Given the description of an element on the screen output the (x, y) to click on. 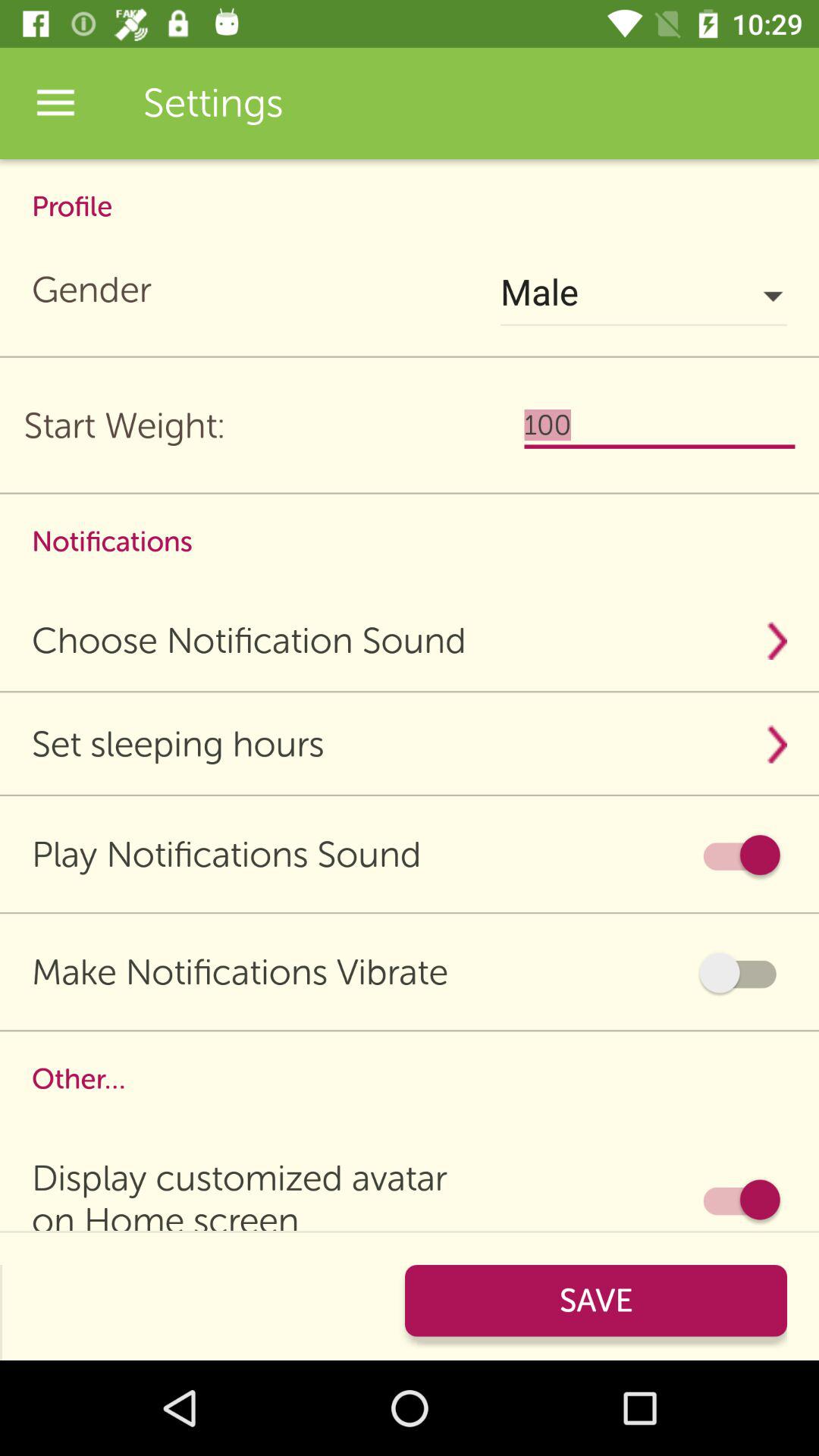
turn off the 100 item (659, 425)
